Given the description of an element on the screen output the (x, y) to click on. 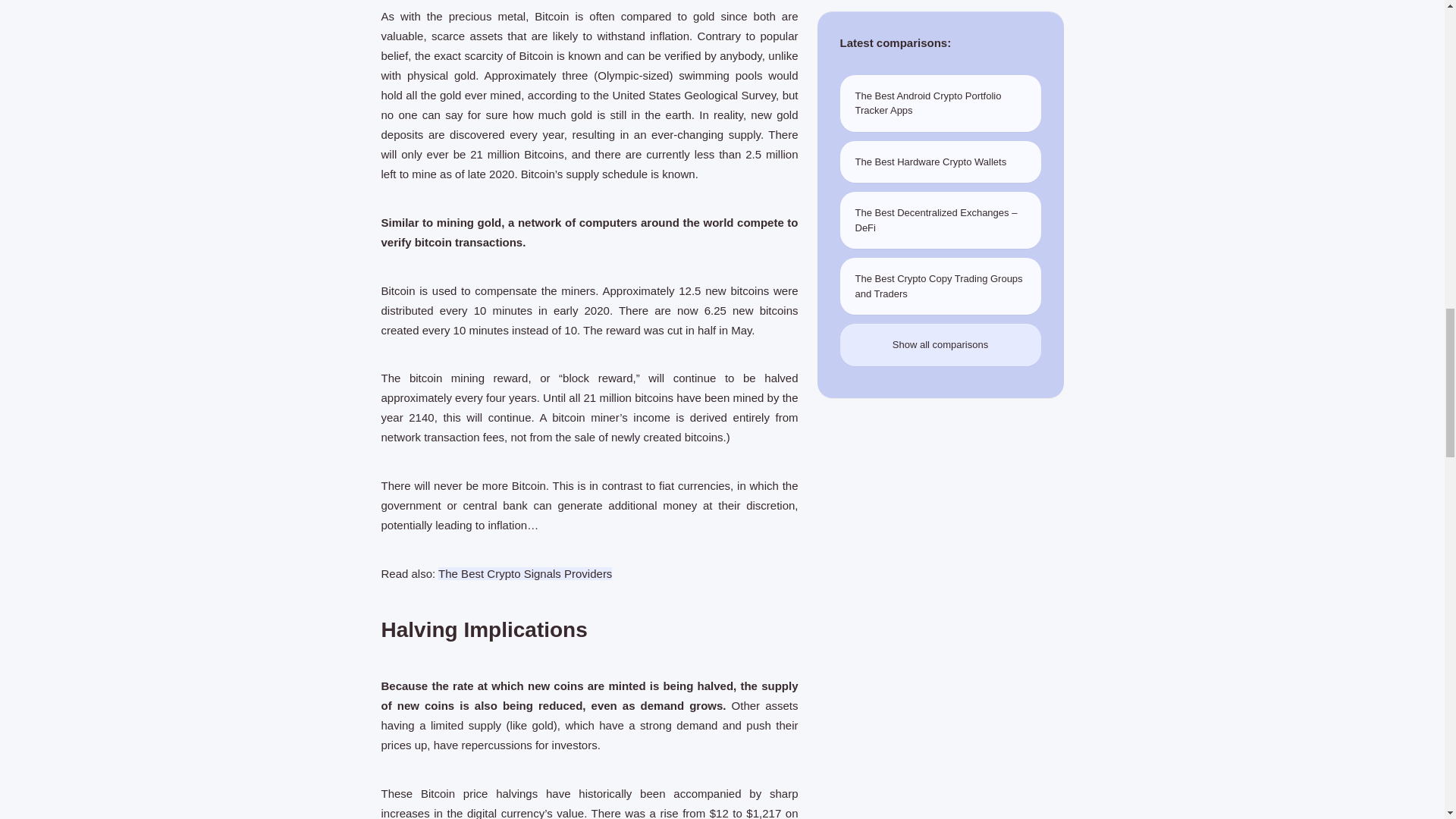
The Best Crypto Signals Providers (524, 573)
The Best Crypto Signals Providers (524, 573)
